Given the description of an element on the screen output the (x, y) to click on. 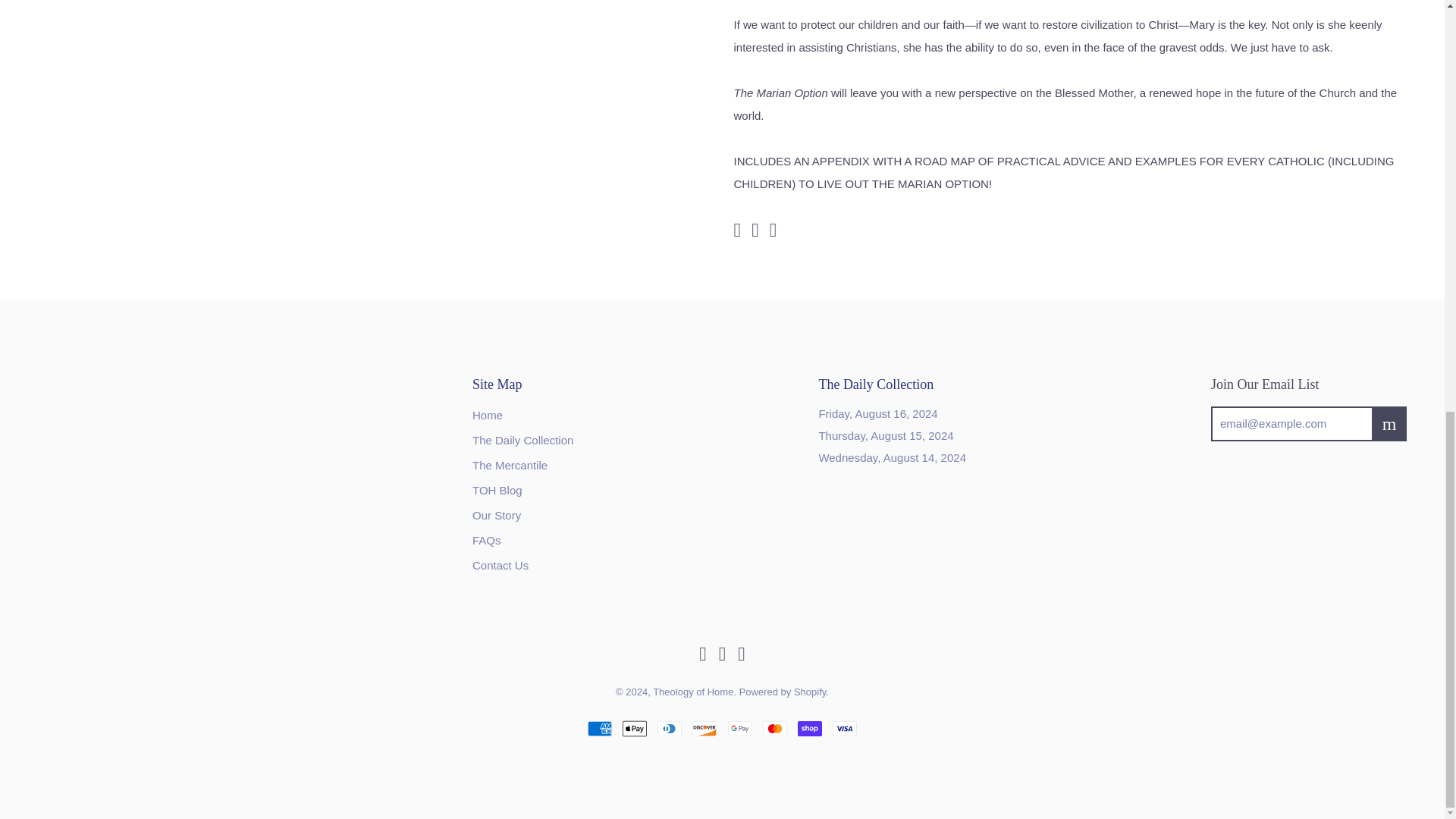
Friday, August 16, 2024 (877, 413)
Thursday, August 15, 2024 (885, 435)
Wednesday, August 14, 2024 (892, 457)
